Given the description of an element on the screen output the (x, y) to click on. 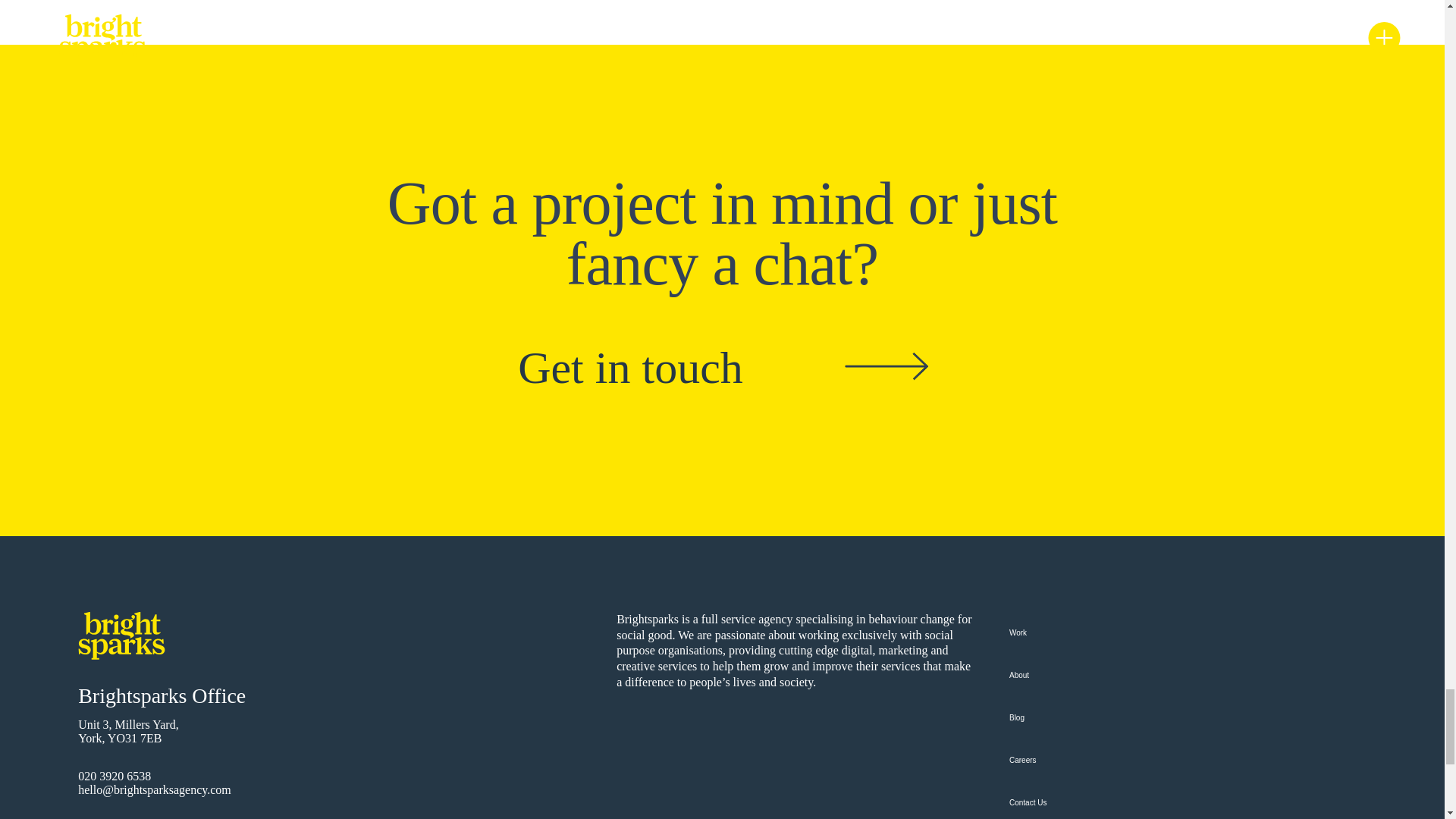
Blog (1204, 717)
About (1204, 675)
Get in touch (630, 368)
020 3920 6538 (114, 775)
Careers (1204, 760)
Work (1204, 632)
Contact Us (1204, 800)
